Given the description of an element on the screen output the (x, y) to click on. 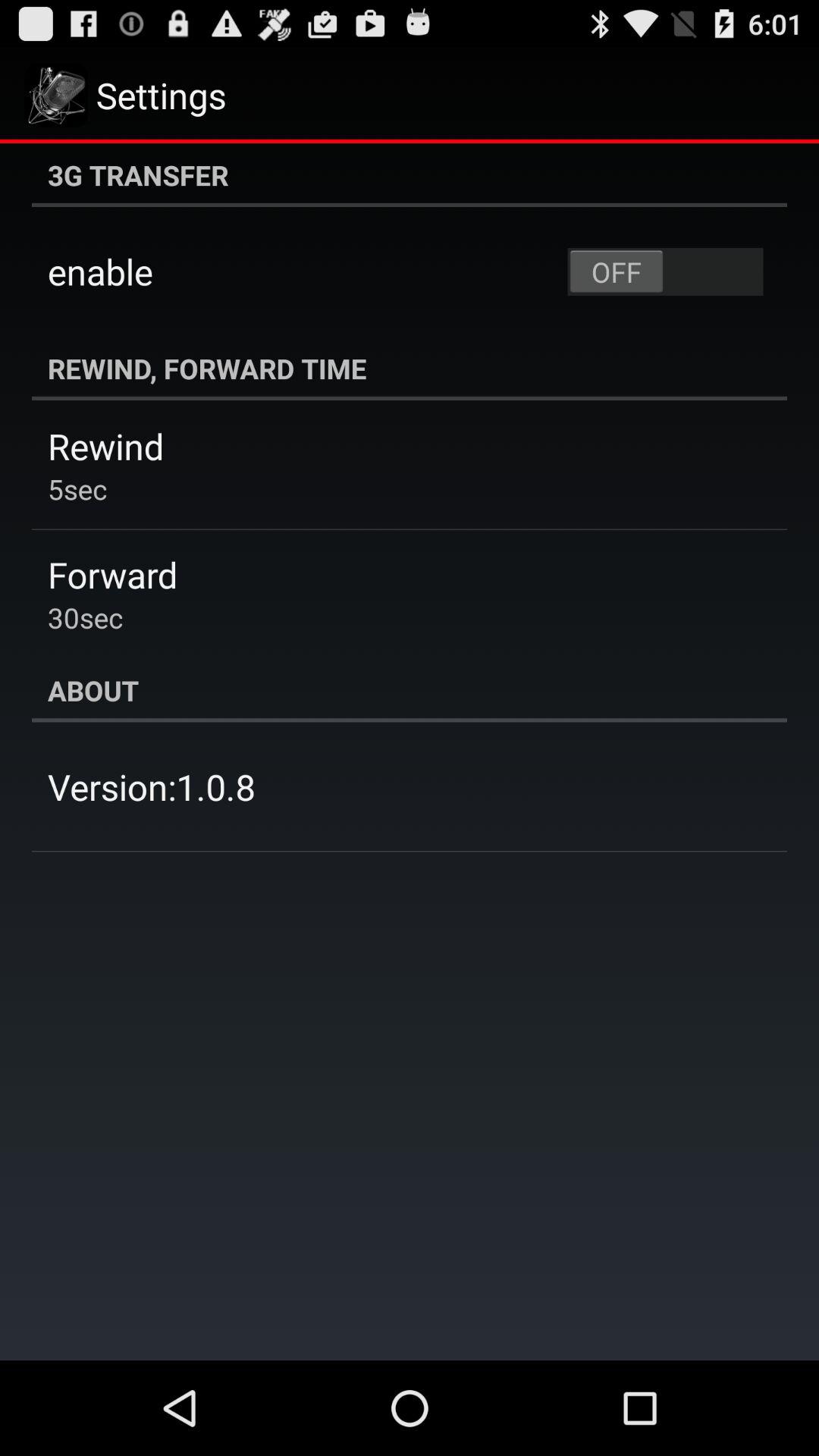
flip to 3g transfer icon (409, 175)
